Given the description of an element on the screen output the (x, y) to click on. 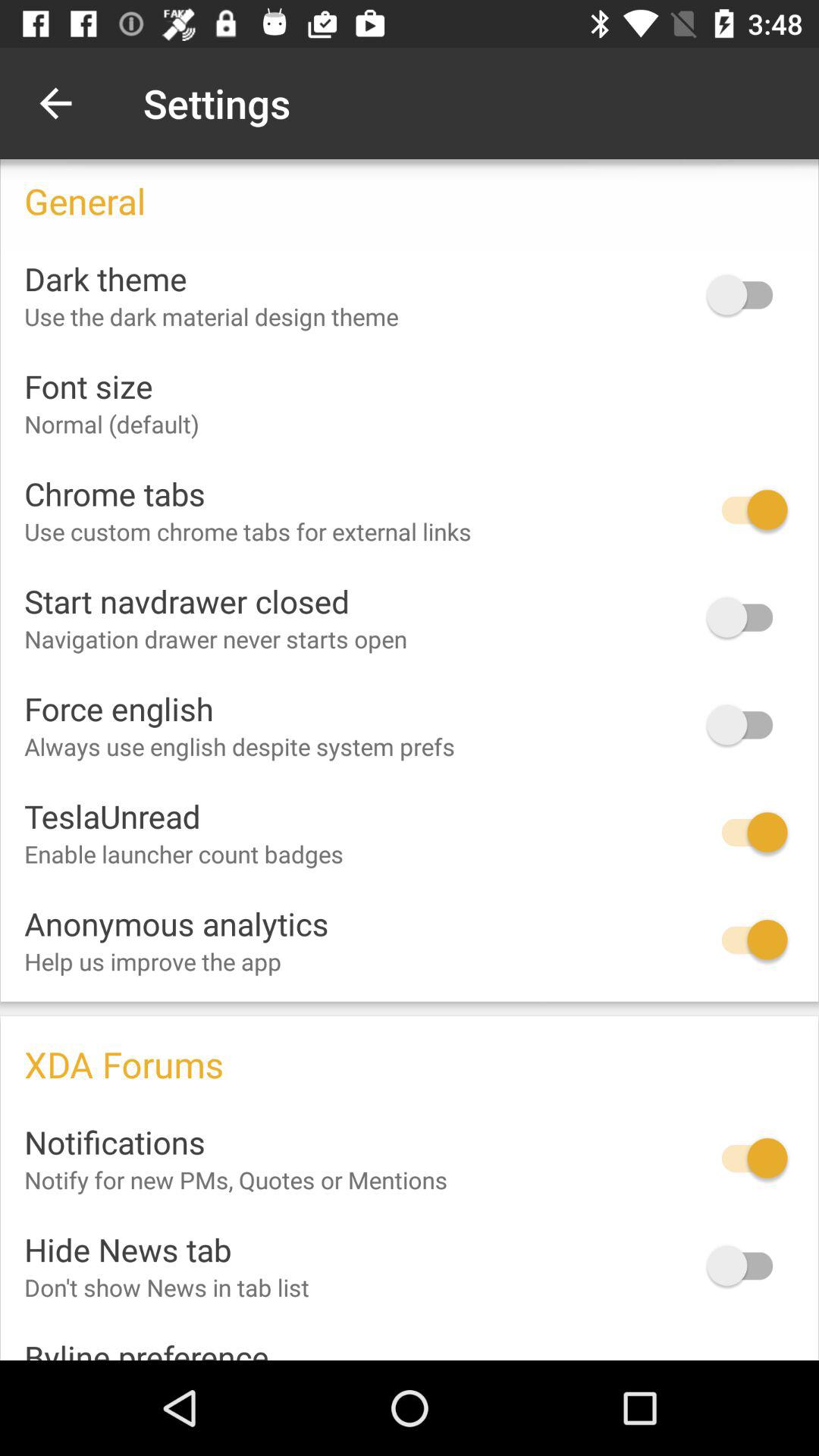
launch icon to the right of hide news tab icon (747, 1265)
